Given the description of an element on the screen output the (x, y) to click on. 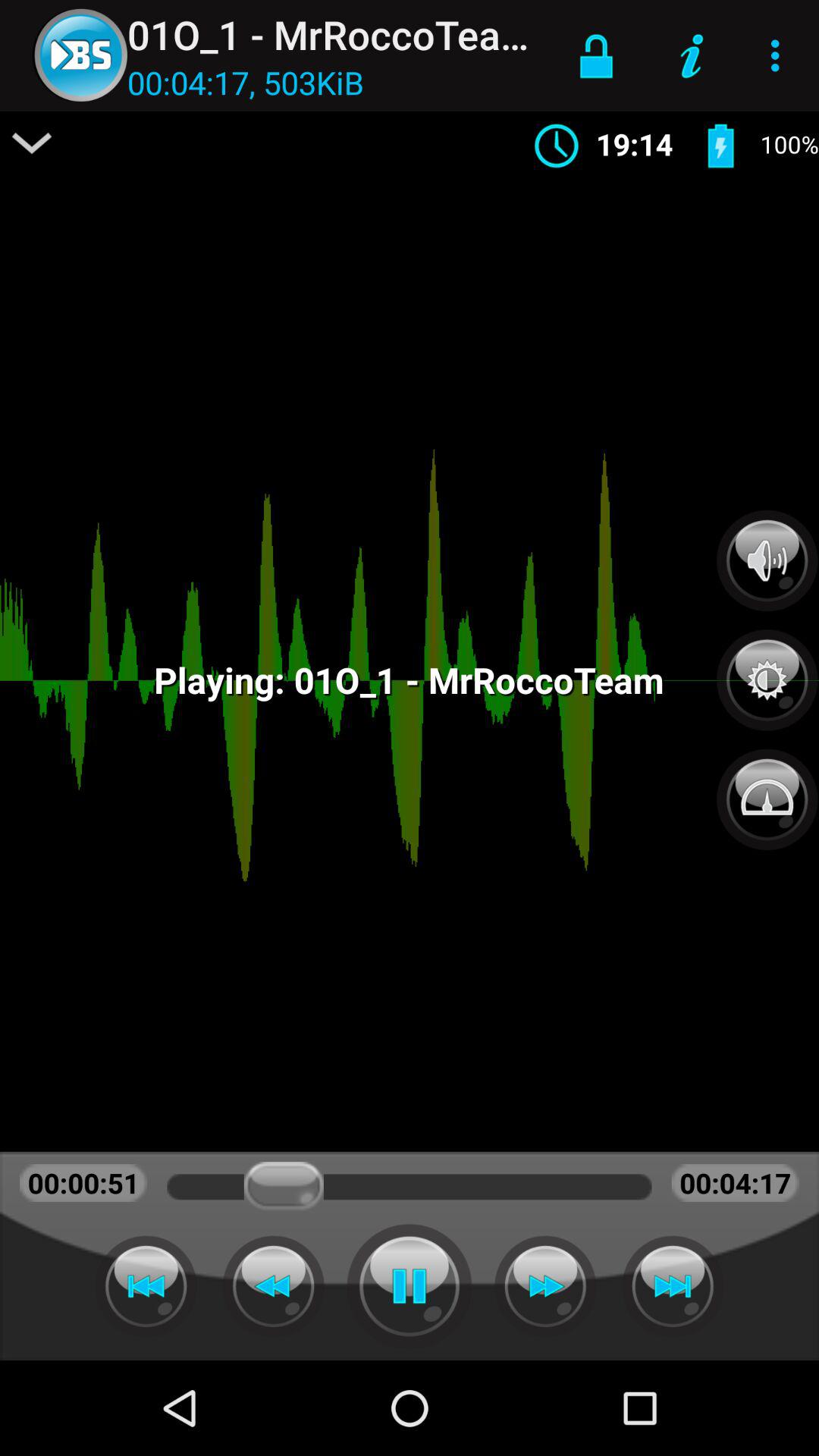
fast forward (545, 1286)
